Given the description of an element on the screen output the (x, y) to click on. 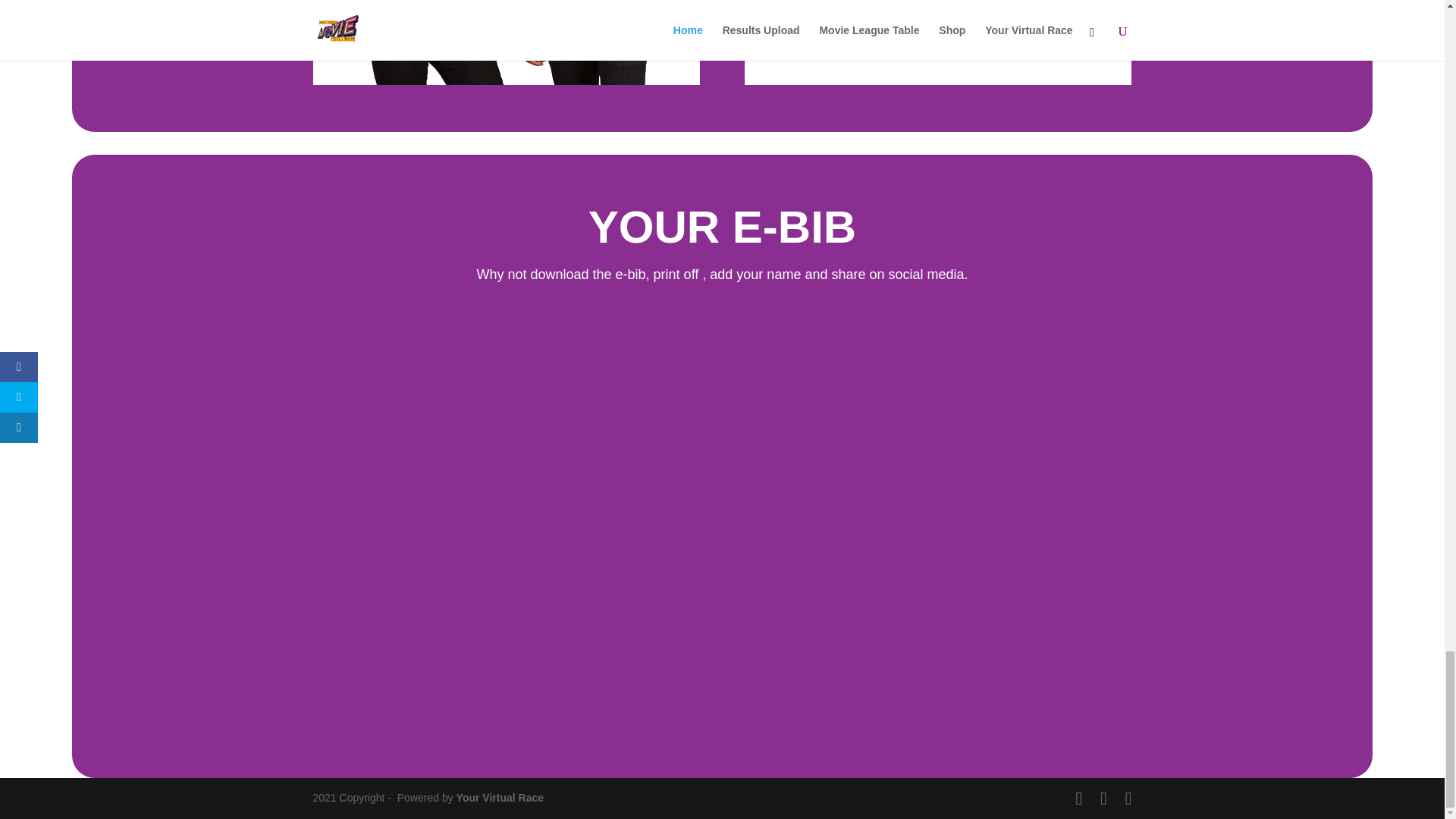
Your Virtual Race  (502, 797)
unisex-premium-t-shirt-white-front-60e2df926a43e.jpg (505, 42)
white-glossy-mug-11oz-handle-on-right-60e2dc2b2c716.jpg (937, 42)
